Given the description of an element on the screen output the (x, y) to click on. 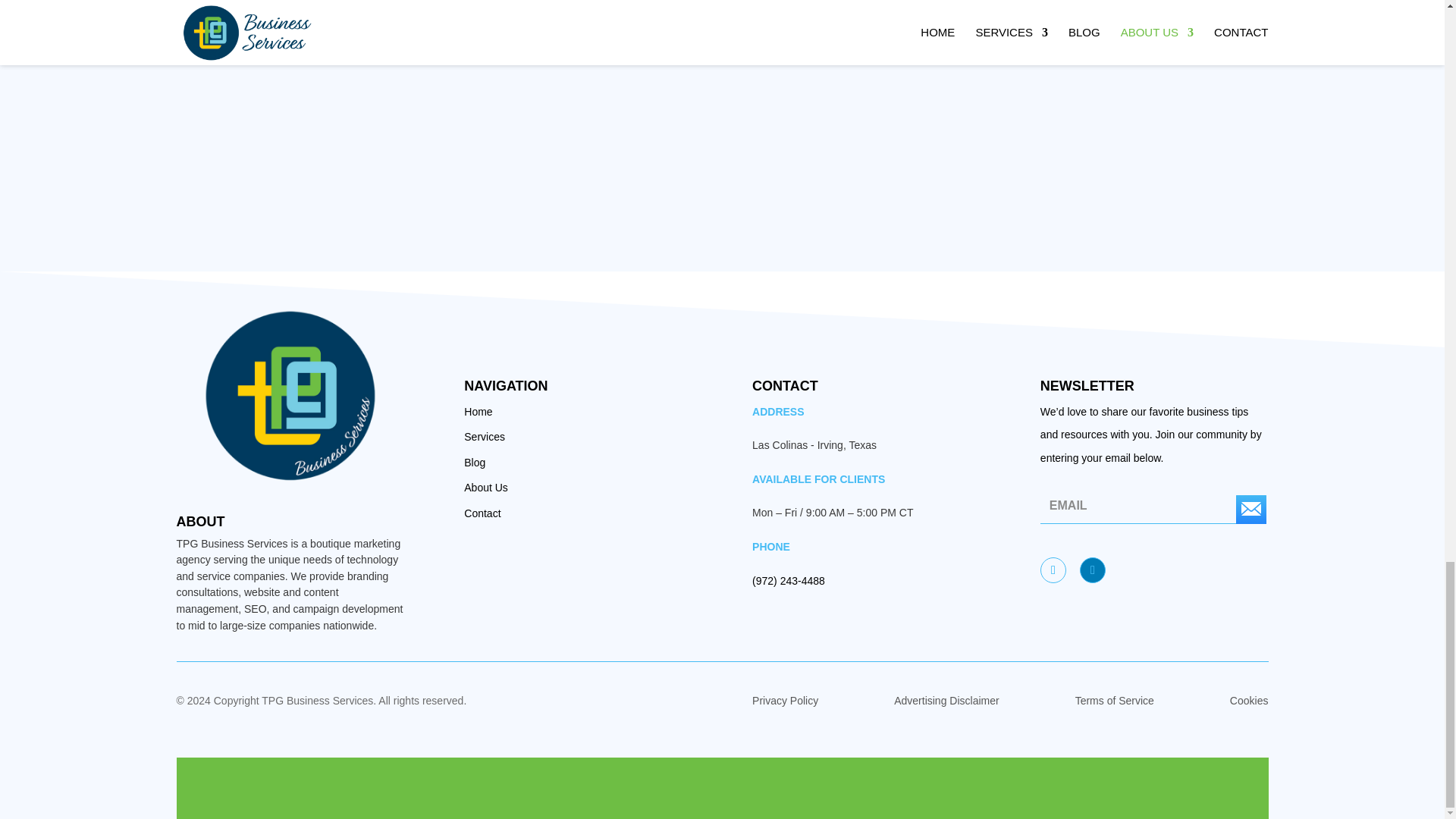
About Us (486, 487)
Blog (474, 462)
Follow on Facebook (1053, 570)
Contact (482, 512)
Services (484, 436)
Home (478, 411)
Follow on LinkedIn (1092, 570)
cropped-tgpbusiness-logo-transparent.png (289, 396)
